Given the description of an element on the screen output the (x, y) to click on. 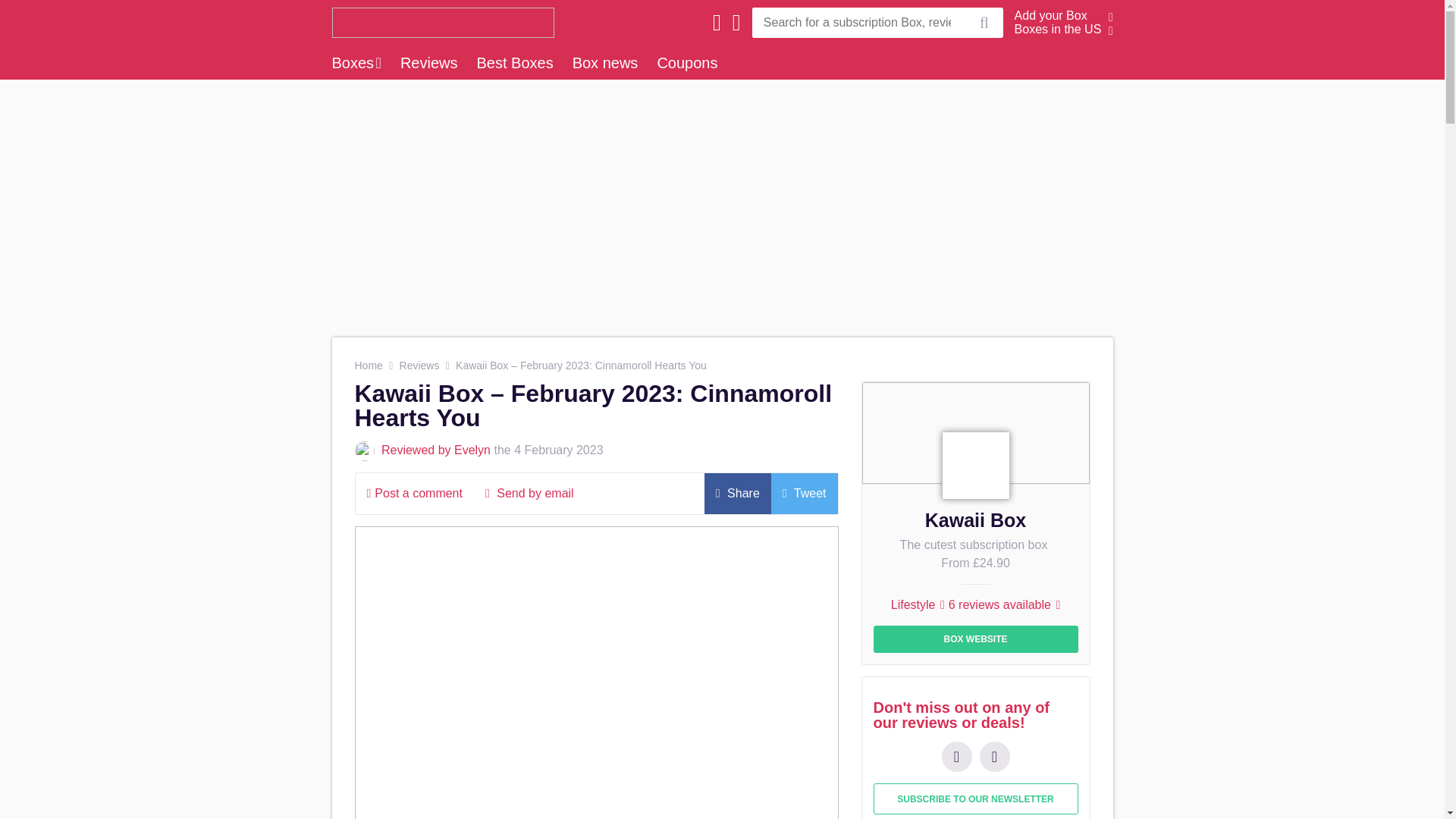
Search for: (858, 22)
Add your Box (1050, 15)
Boxes (356, 62)
Boxes in the US (1058, 29)
All Subscription Boxes UK (437, 22)
